Given the description of an element on the screen output the (x, y) to click on. 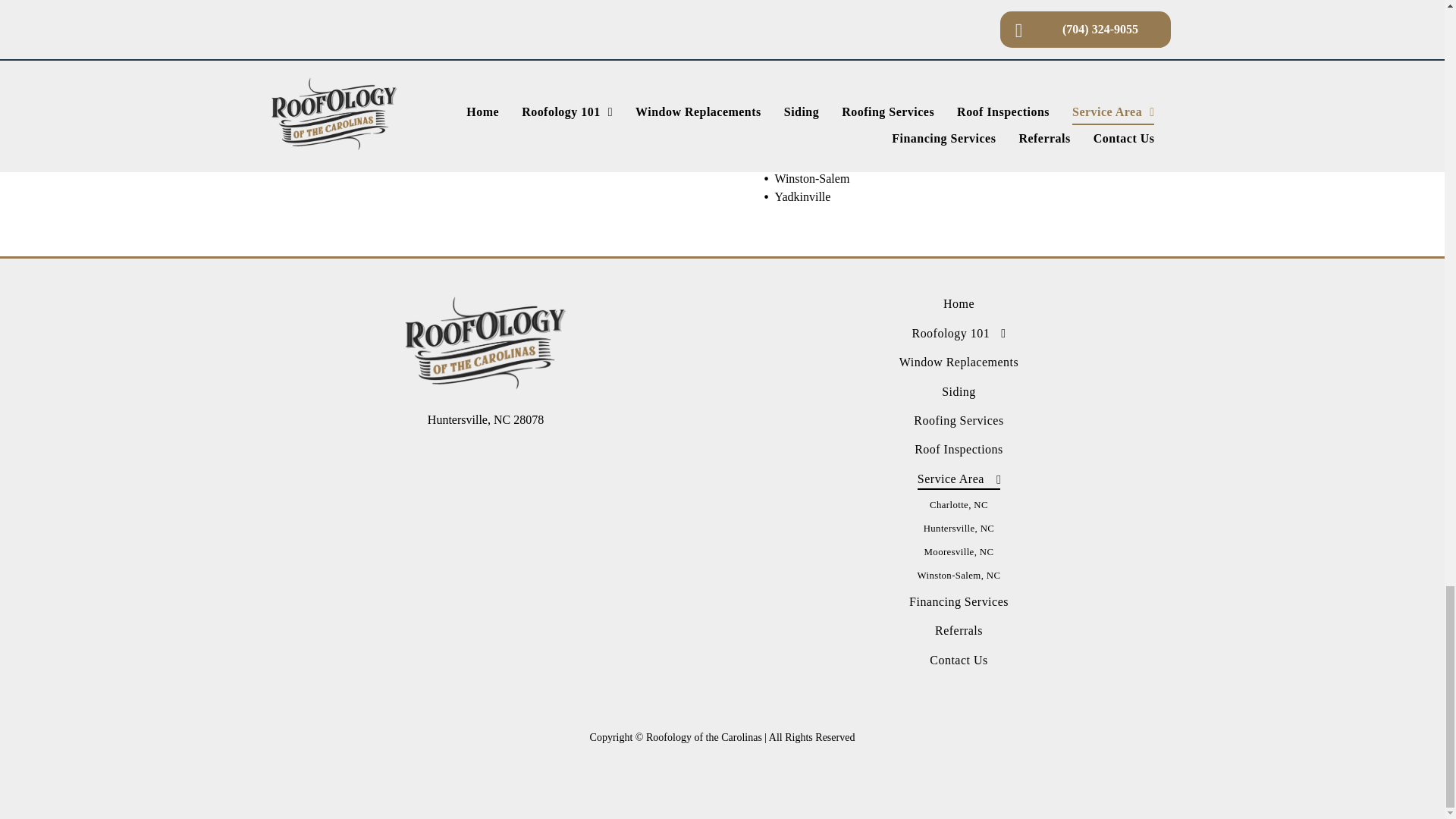
Home (958, 303)
Roofology 101 (958, 333)
